Given the description of an element on the screen output the (x, y) to click on. 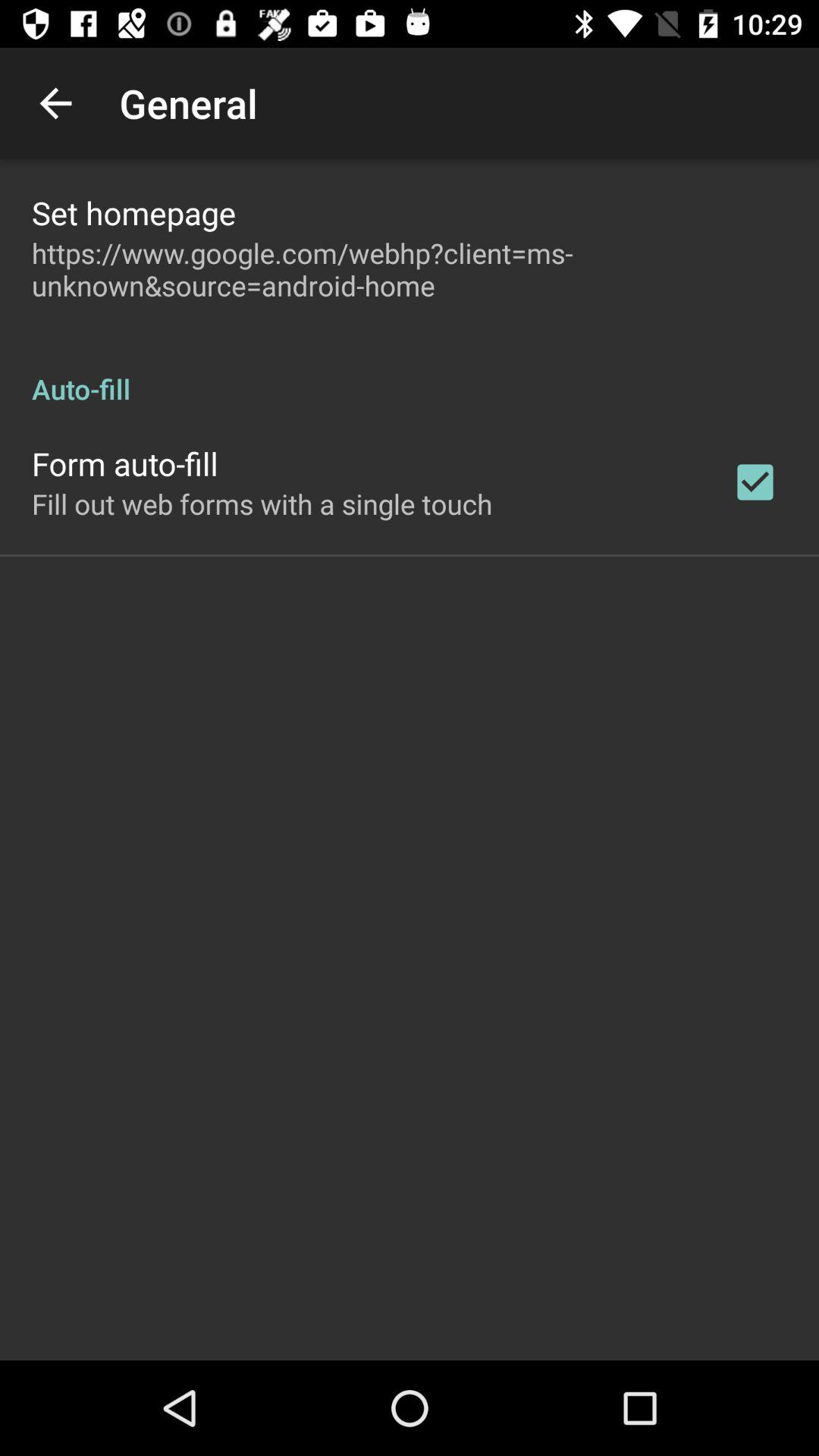
click item below form auto-fill app (261, 503)
